Given the description of an element on the screen output the (x, y) to click on. 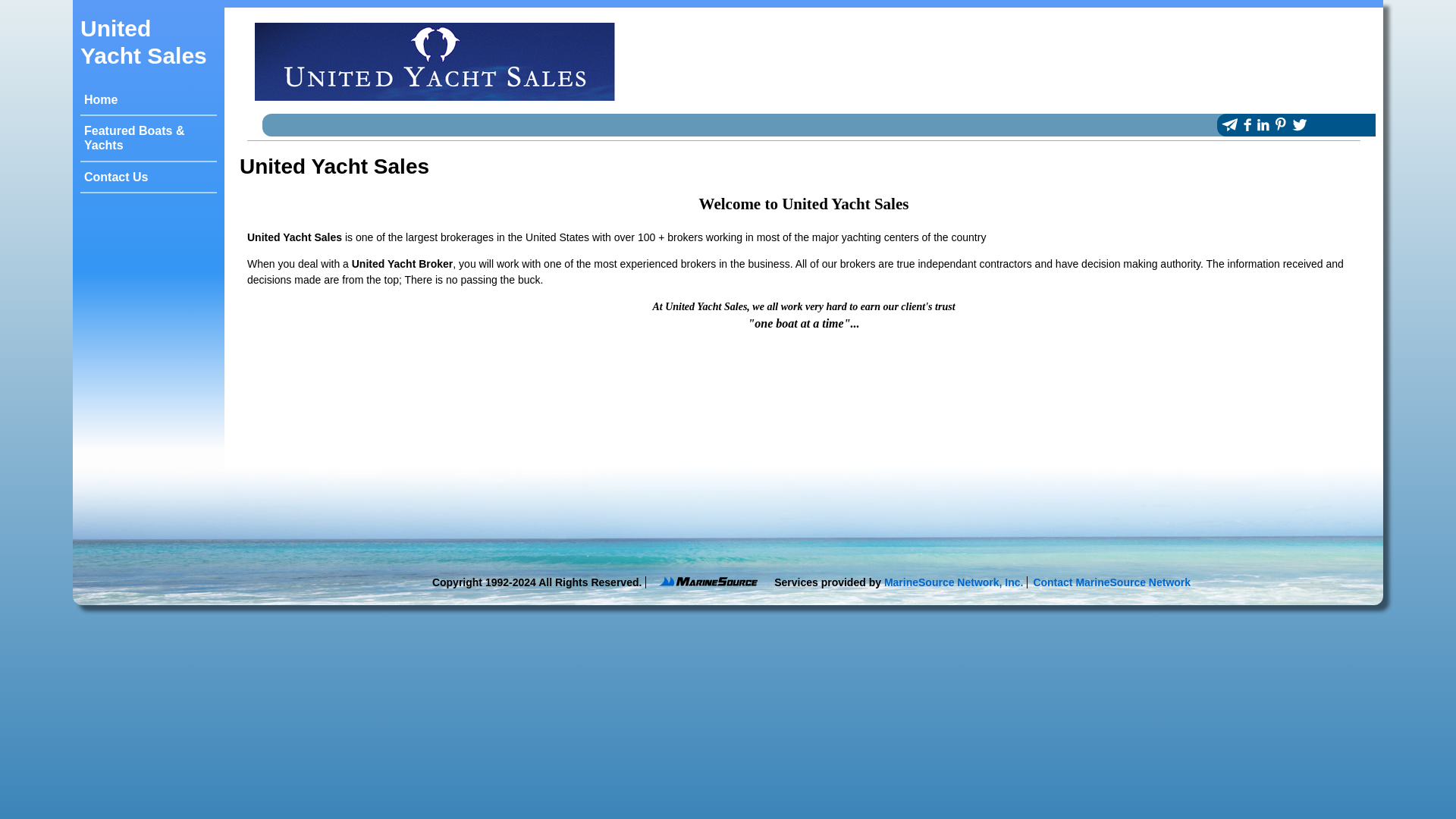
Home (100, 99)
Contact MarineSource Network (1111, 582)
MarineSource Network, Inc. (953, 582)
Contact Us (116, 176)
United Yacht Sales (143, 41)
